Given the description of an element on the screen output the (x, y) to click on. 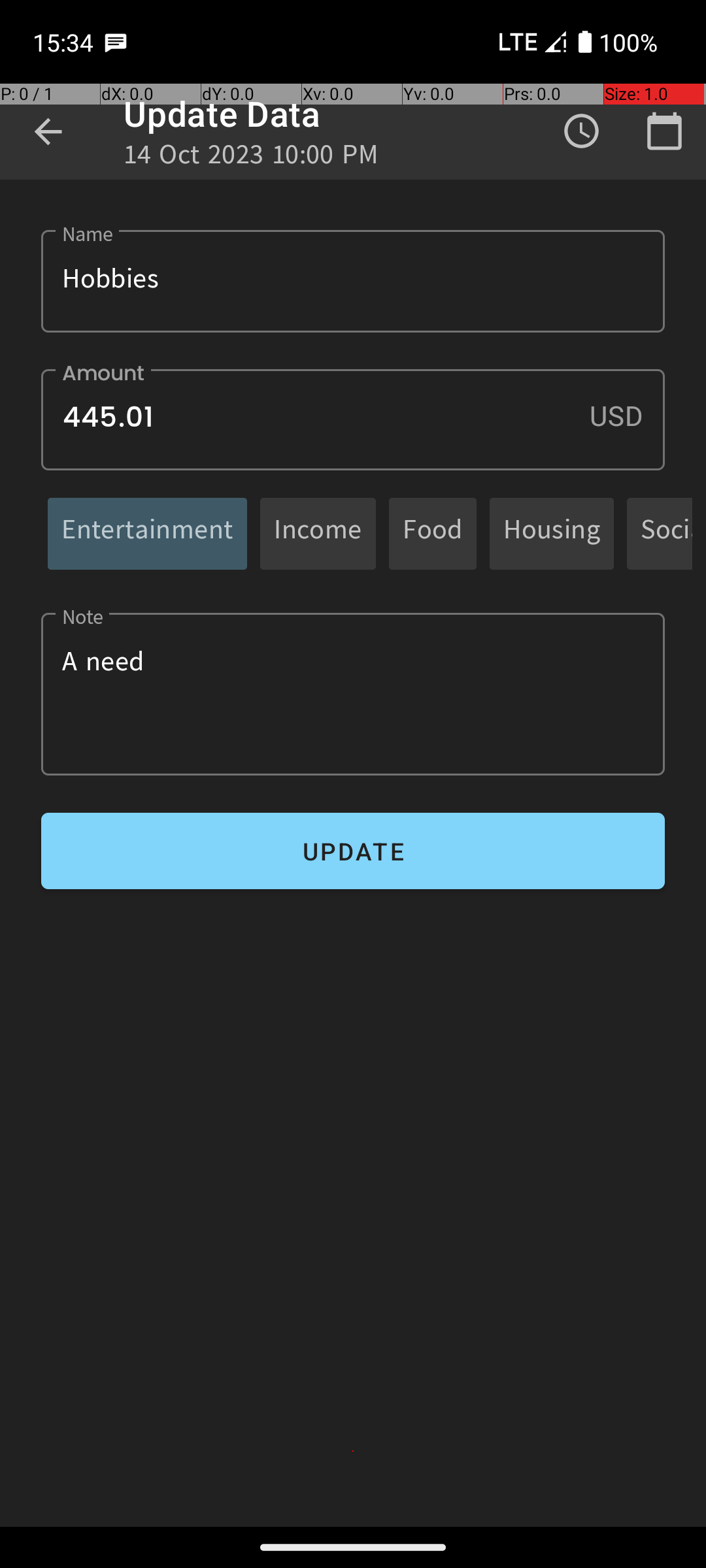
14 Oct 2023 10:00 PM Element type: android.widget.TextView (250, 157)
Hobbies Element type: android.widget.EditText (352, 280)
445.01 Element type: android.widget.EditText (352, 419)
SMS Messenger notification: Juan Alves Element type: android.widget.ImageView (115, 41)
